Given the description of an element on the screen output the (x, y) to click on. 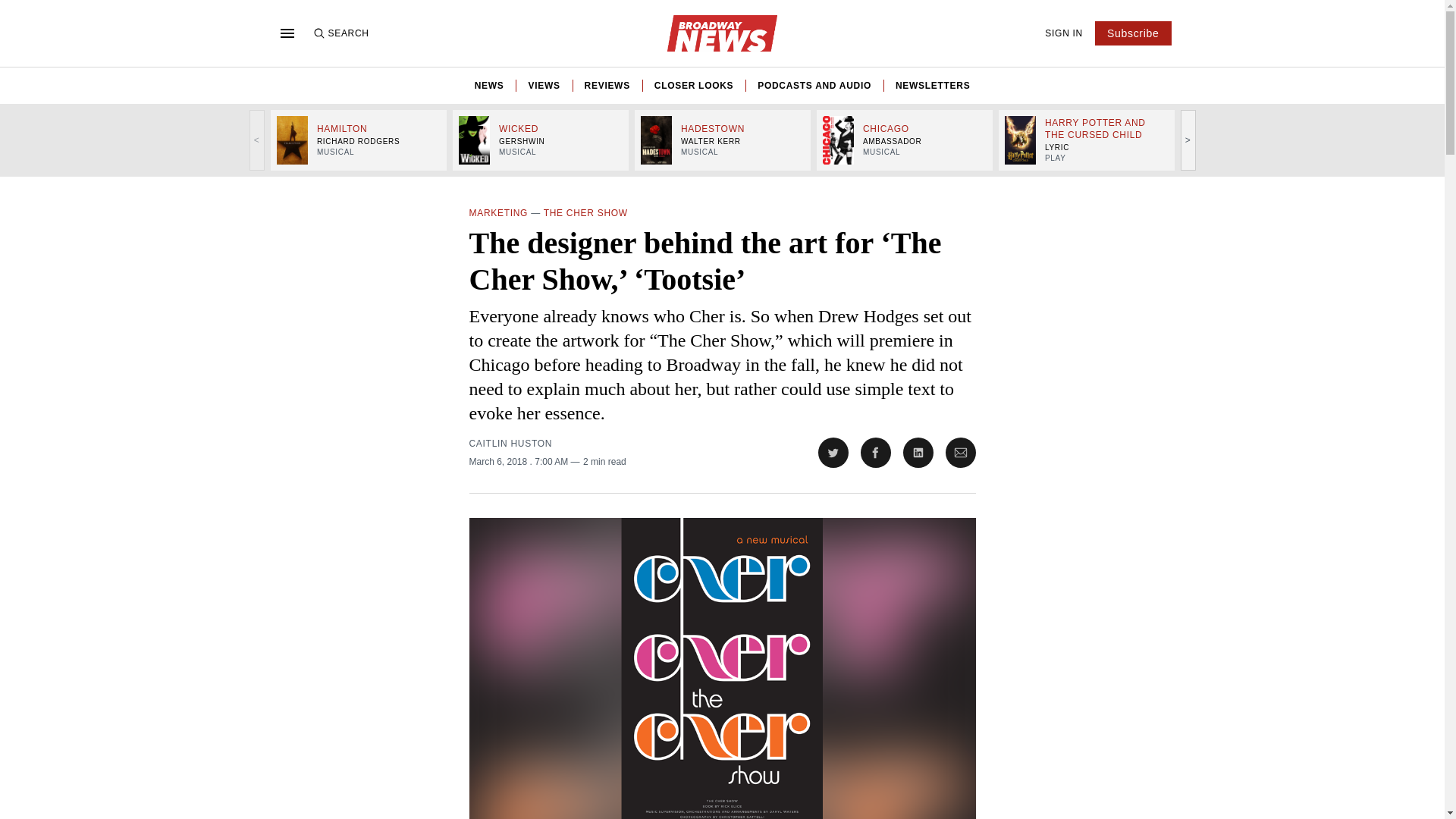
VIEWS (543, 85)
CLOSER LOOKS (693, 85)
SIGN IN (1064, 33)
Subscribe (1133, 33)
NEWSLETTERS (932, 85)
PODCASTS AND AUDIO (813, 85)
SEARCH (340, 33)
NEWS (488, 85)
REVIEWS (607, 85)
